Given the description of an element on the screen output the (x, y) to click on. 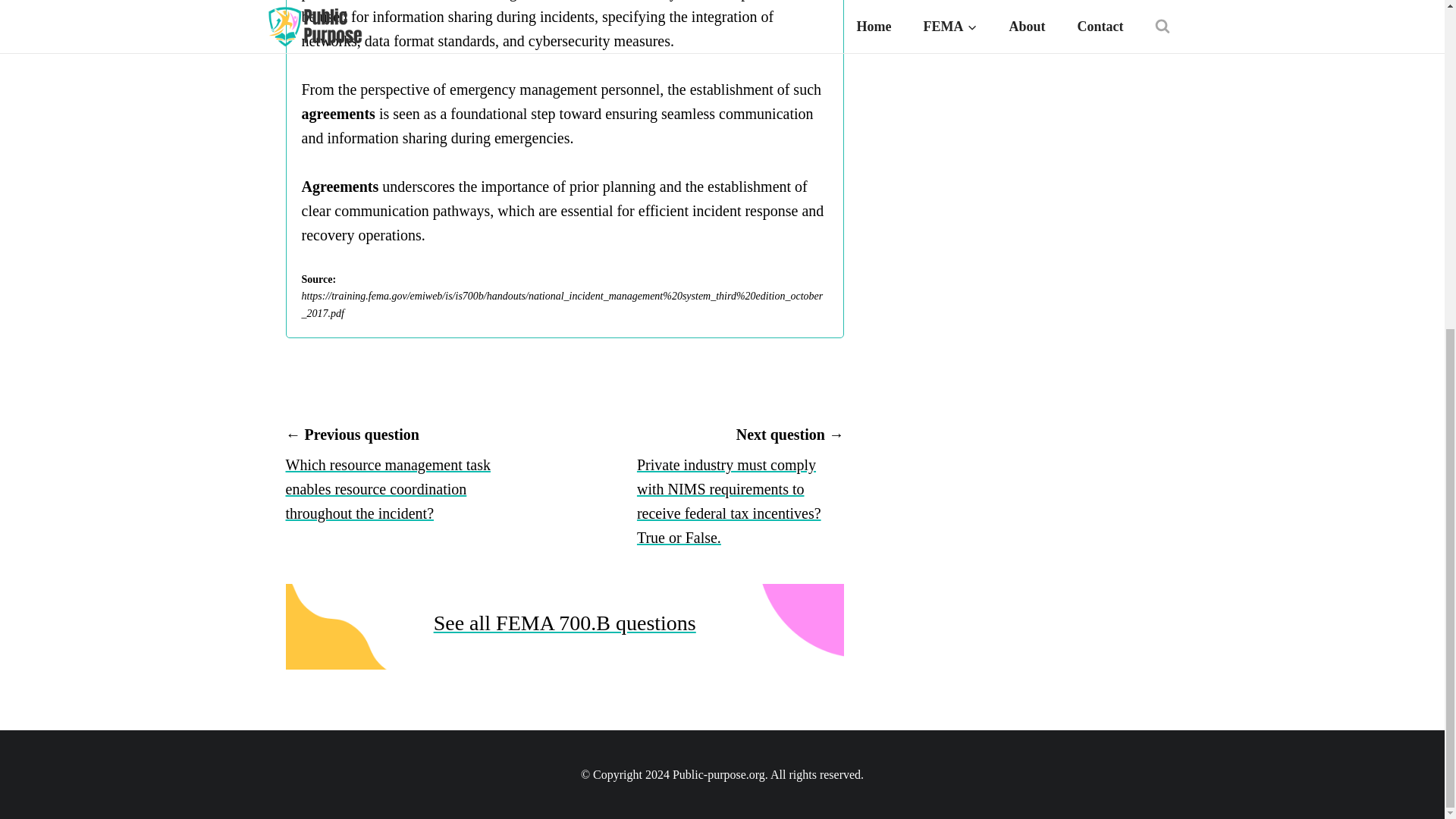
See all FEMA 700.B questions (564, 622)
